Given the description of an element on the screen output the (x, y) to click on. 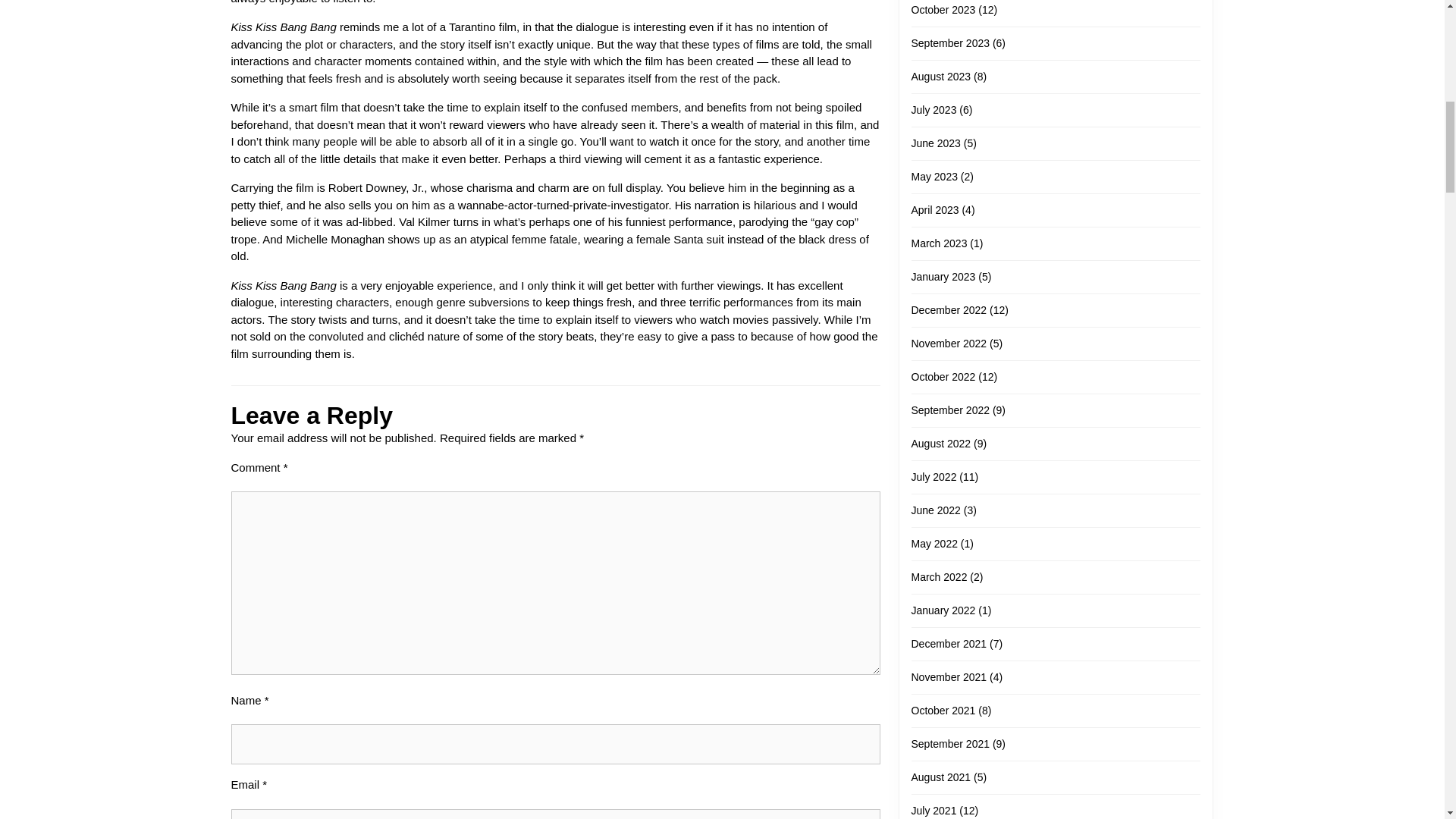
June 2023 (935, 143)
August 2023 (941, 76)
October 2023 (943, 9)
May 2023 (934, 176)
September 2023 (950, 42)
July 2023 (933, 110)
